Given the description of an element on the screen output the (x, y) to click on. 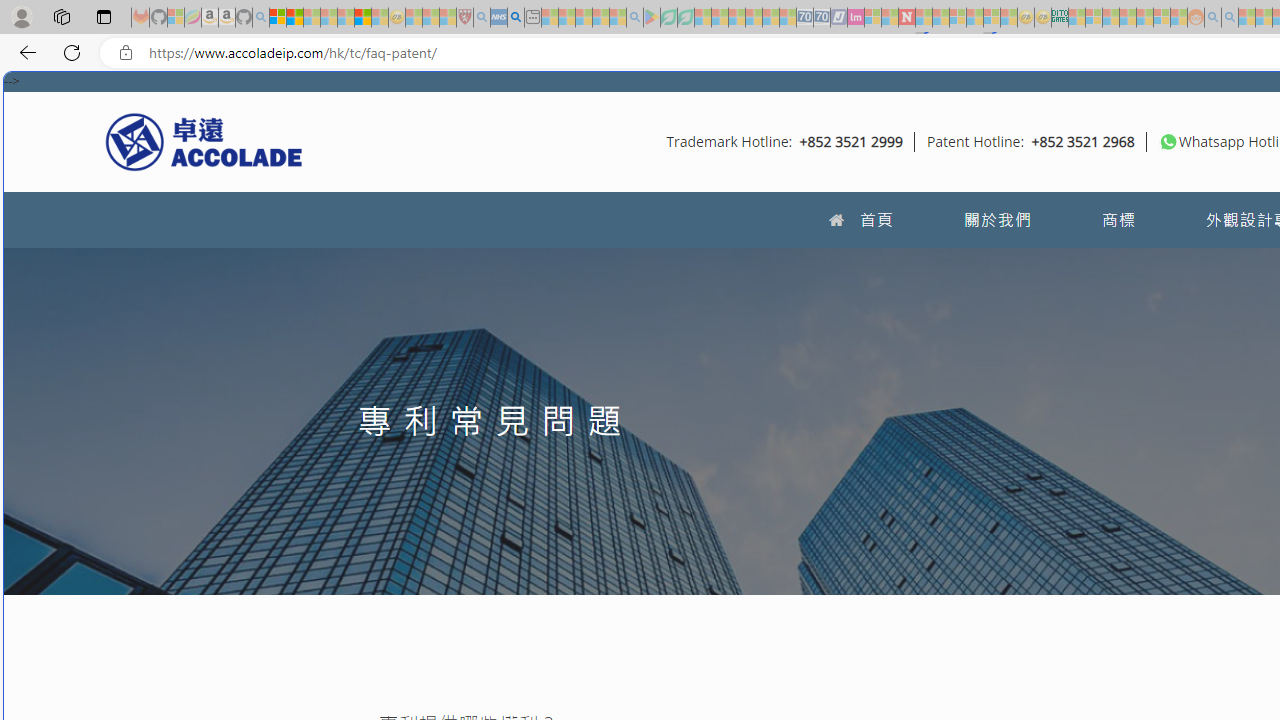
DITOGAMES AG Imprint (1059, 17)
Accolade IP HK Logo (203, 141)
Utah sues federal government - Search - Sleeping (1229, 17)
Cheap Car Rentals - Save70.com - Sleeping (804, 17)
Robert H. Shmerling, MD - Harvard Health - Sleeping (465, 17)
Local - MSN - Sleeping (447, 17)
Recipes - MSN - Sleeping (413, 17)
